Given the description of an element on the screen output the (x, y) to click on. 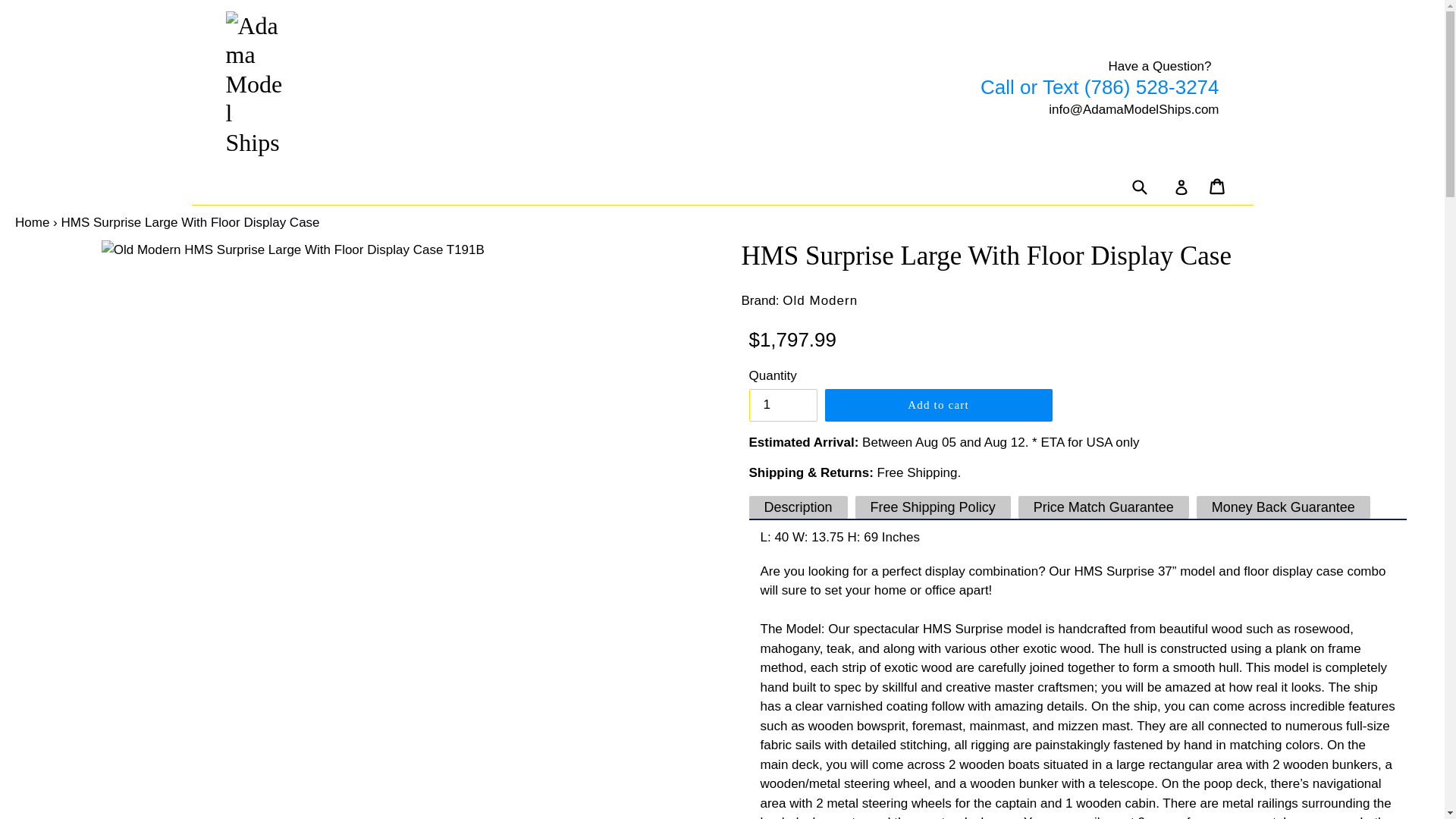
Home (31, 222)
Home (31, 222)
1 (782, 404)
Description (798, 507)
Add to cart (938, 405)
